Given the description of an element on the screen output the (x, y) to click on. 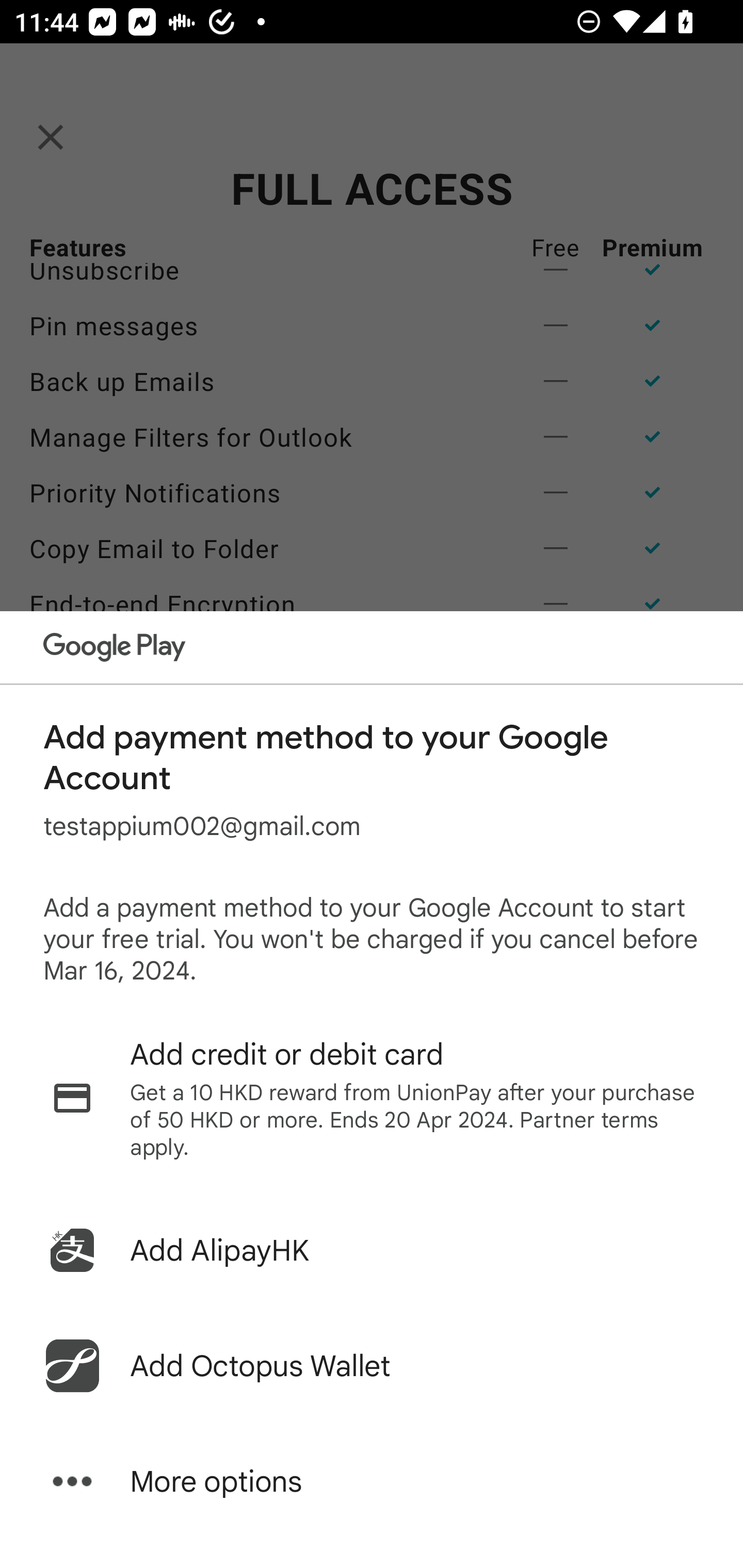
Add AlipayHK (371, 1250)
Add Octopus Wallet (371, 1365)
More options (371, 1481)
